Given the description of an element on the screen output the (x, y) to click on. 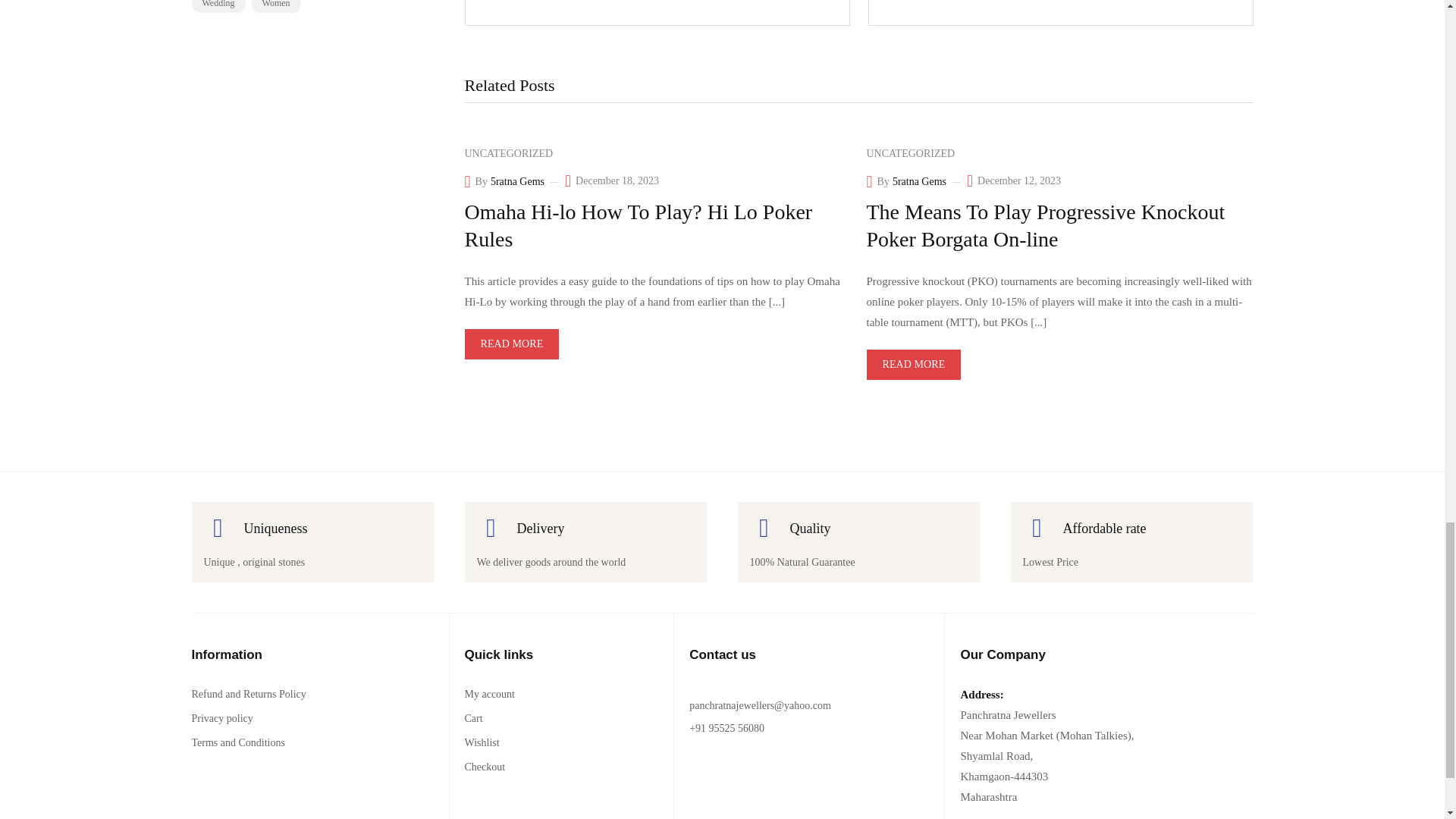
Read more (511, 344)
View all posts in Uncategorized (910, 153)
View all posts in Uncategorized (508, 153)
Posts by 5ratna gems (919, 181)
Posts by 5ratna gems (517, 181)
